Given the description of an element on the screen output the (x, y) to click on. 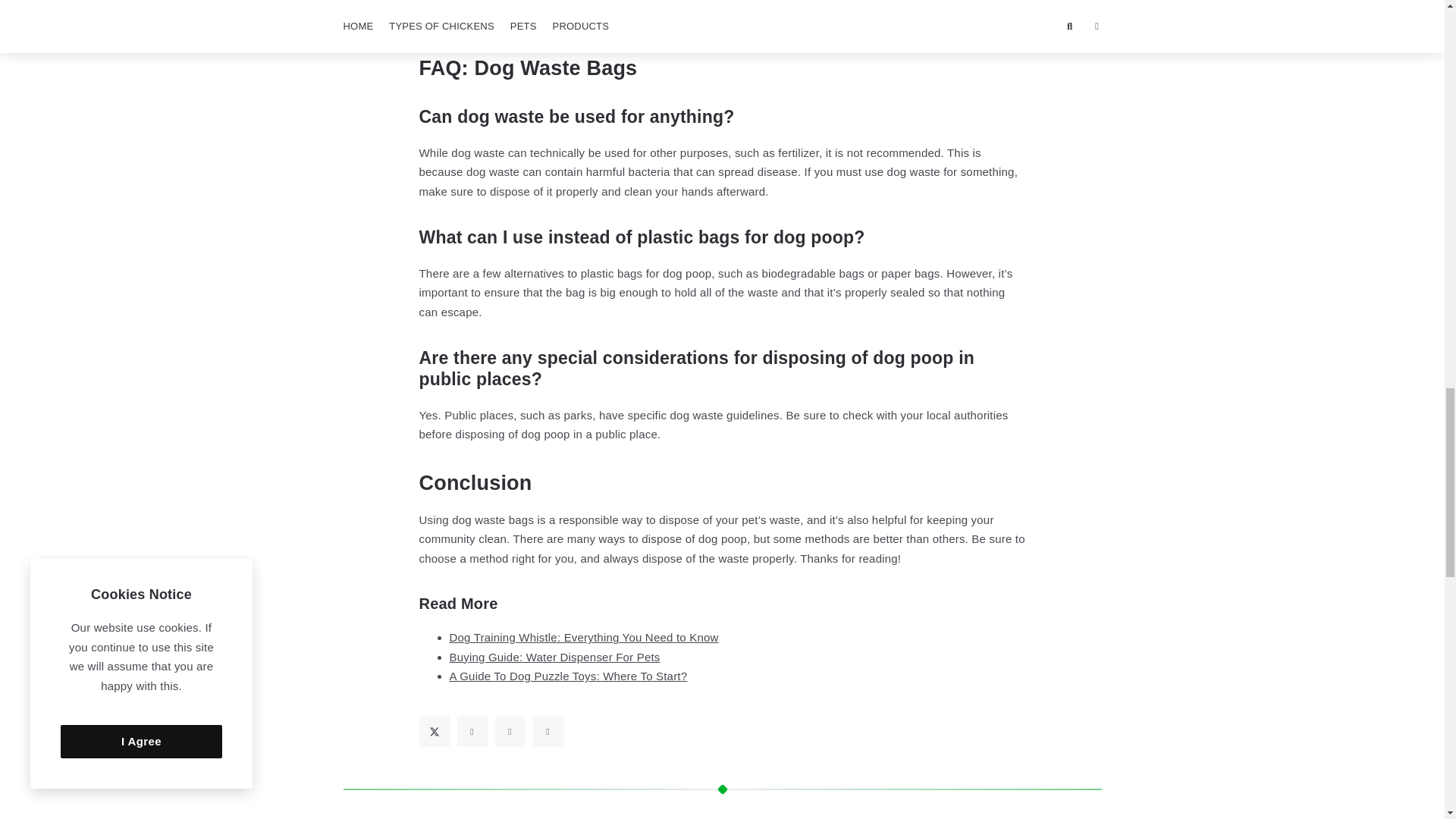
Share on Twitter X (433, 731)
Share on Pinterest (509, 731)
Share on Reddit (547, 731)
Share on Facebook (471, 731)
